Given the description of an element on the screen output the (x, y) to click on. 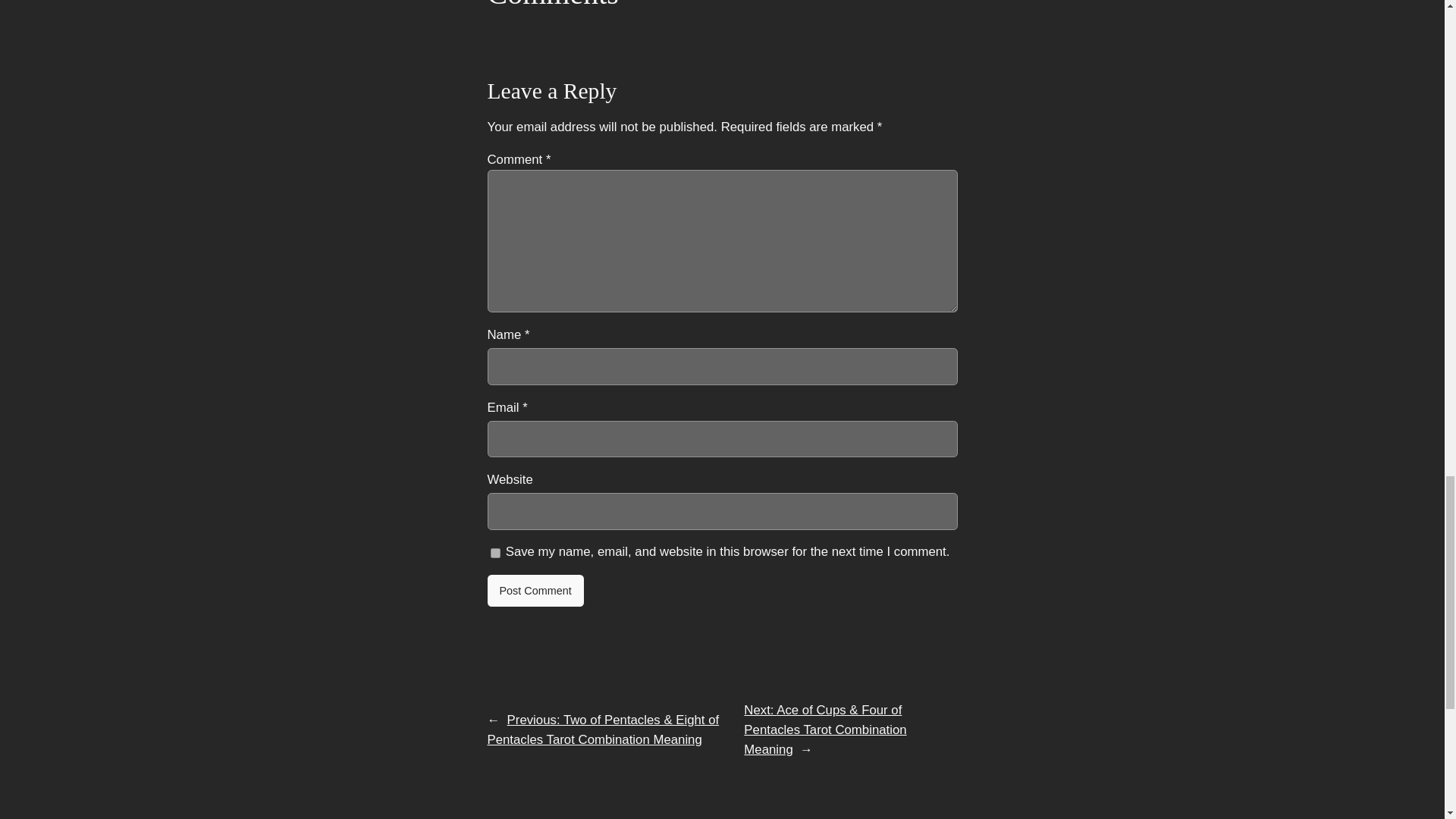
Post Comment (534, 590)
Post Comment (534, 590)
yes (494, 553)
